Given the description of an element on the screen output the (x, y) to click on. 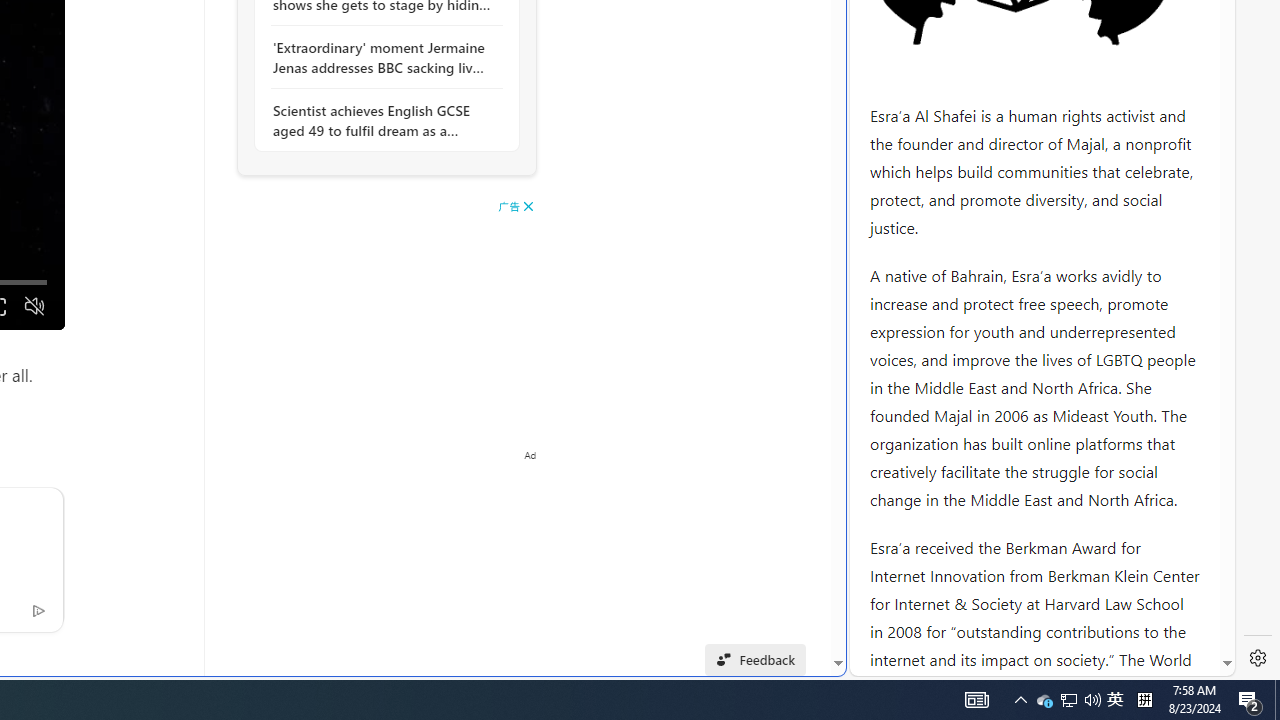
Unmute (34, 306)
AutomationID: cbb (527, 205)
